Given the description of an element on the screen output the (x, y) to click on. 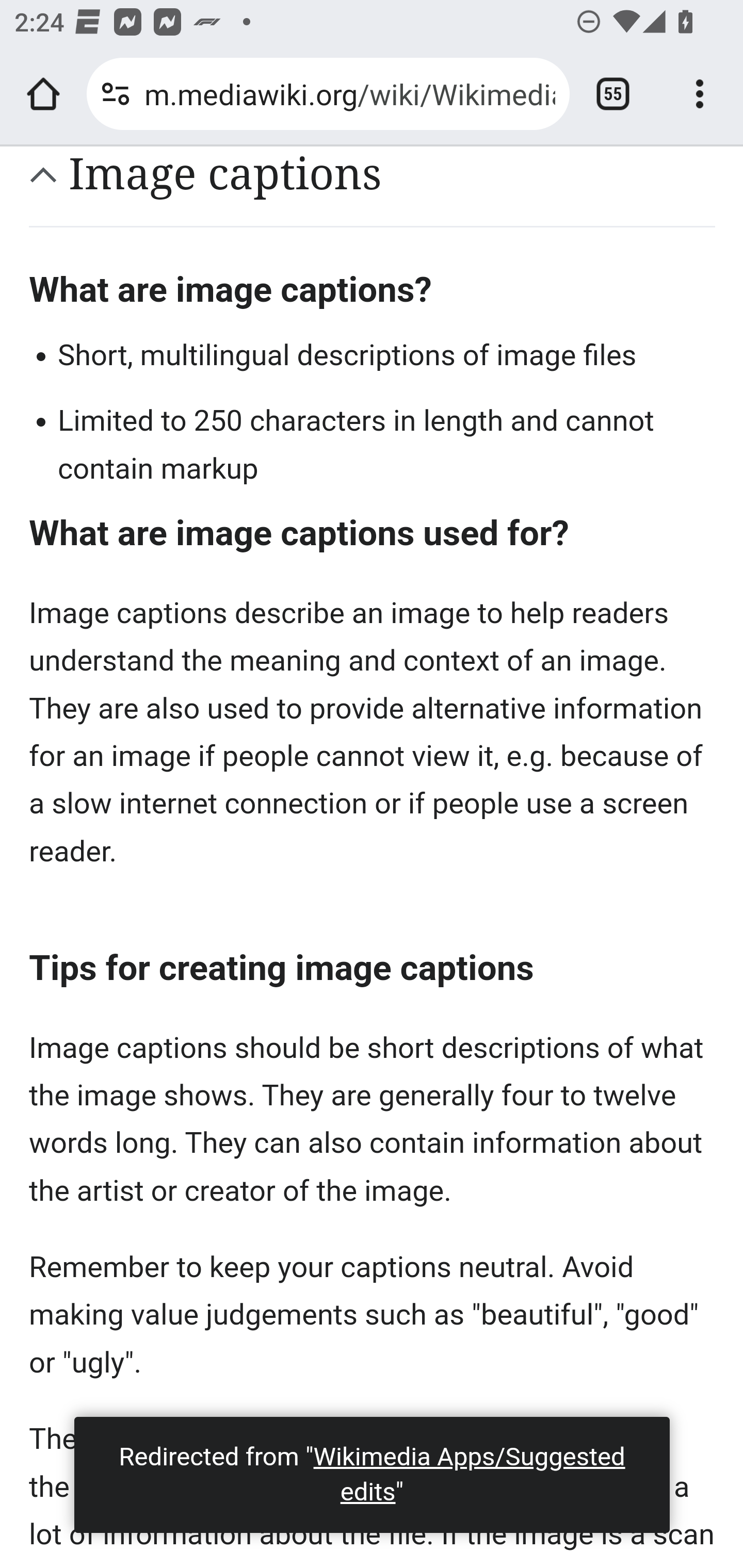
Open the home page (43, 93)
Connection is secure (115, 93)
Switch or close tabs (612, 93)
Customize and control Google Chrome (699, 93)
